Given the description of an element on the screen output the (x, y) to click on. 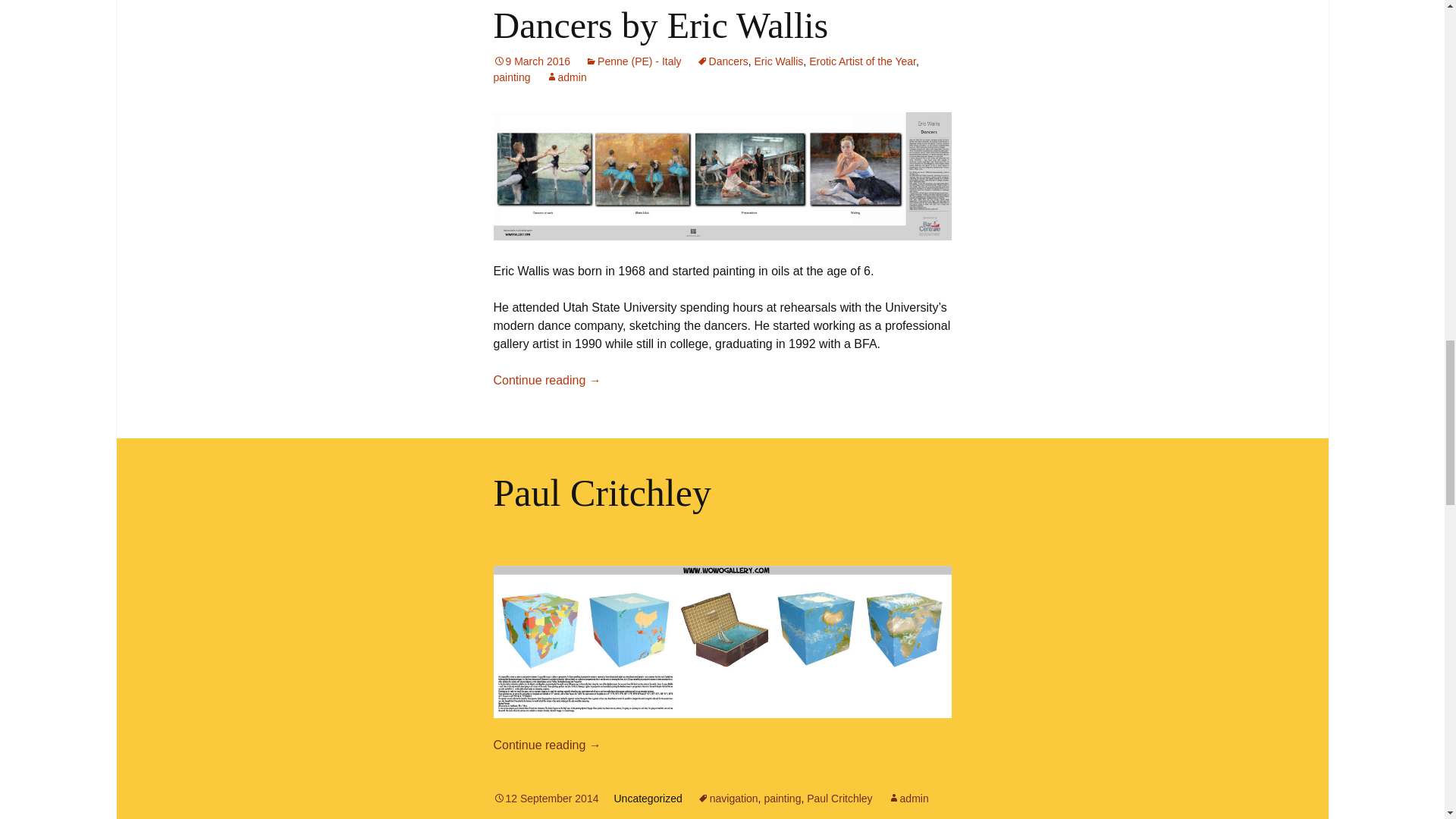
admin (566, 77)
Erotic Artist of the Year (862, 61)
Eric Wallis (778, 61)
Permalink to Dancers by Eric Wallis (531, 61)
Permalink to Paul Critchley (545, 798)
View all posts by admin (908, 798)
painting (511, 77)
View all posts by admin (566, 77)
9 March 2016 (531, 61)
Dancers by Eric Wallis (660, 24)
Dancers (722, 61)
